Given the description of an element on the screen output the (x, y) to click on. 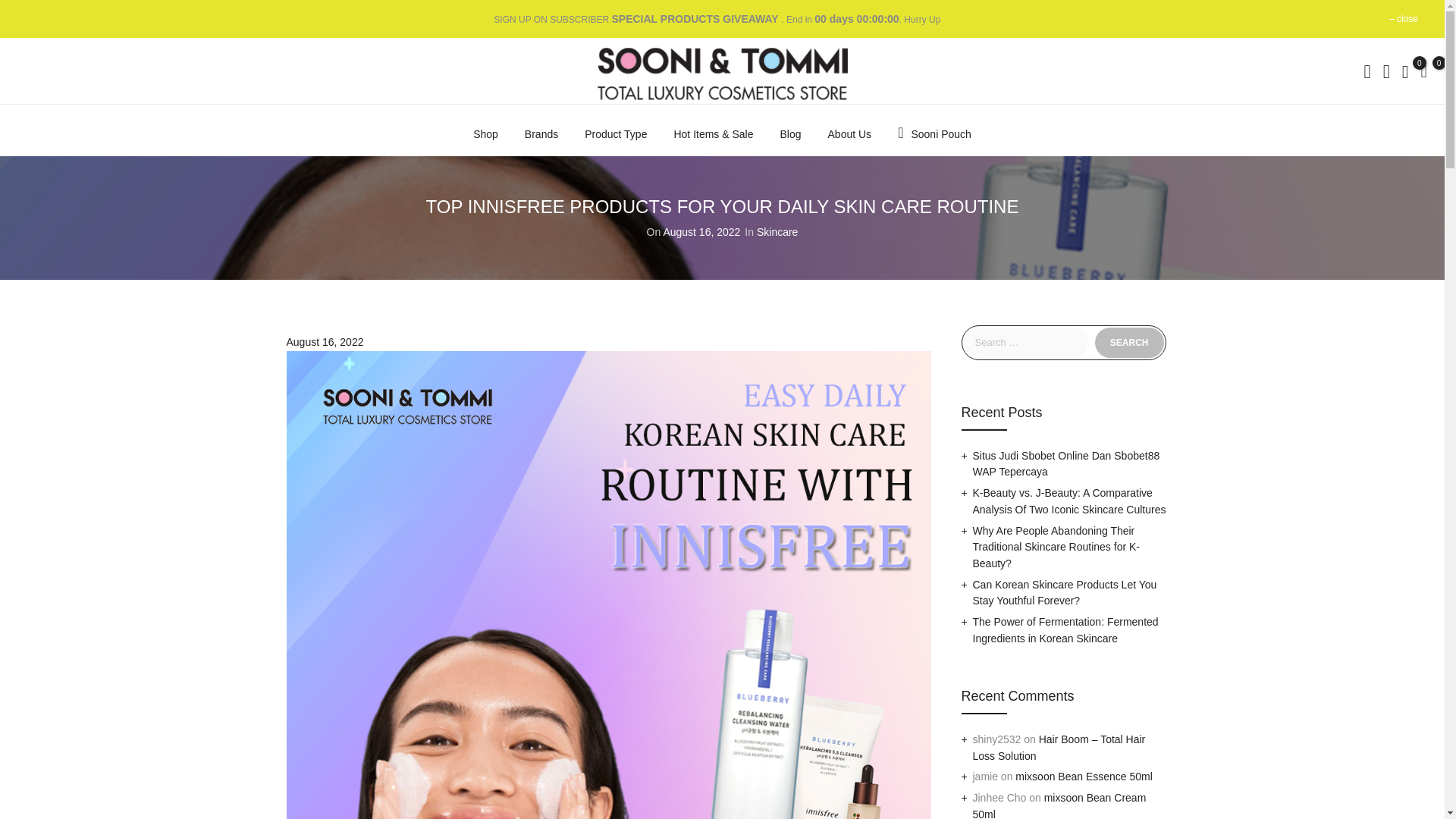
Brands (540, 133)
Shop (485, 133)
Search (1128, 342)
Search (1128, 342)
close (1407, 18)
